Given the description of an element on the screen output the (x, y) to click on. 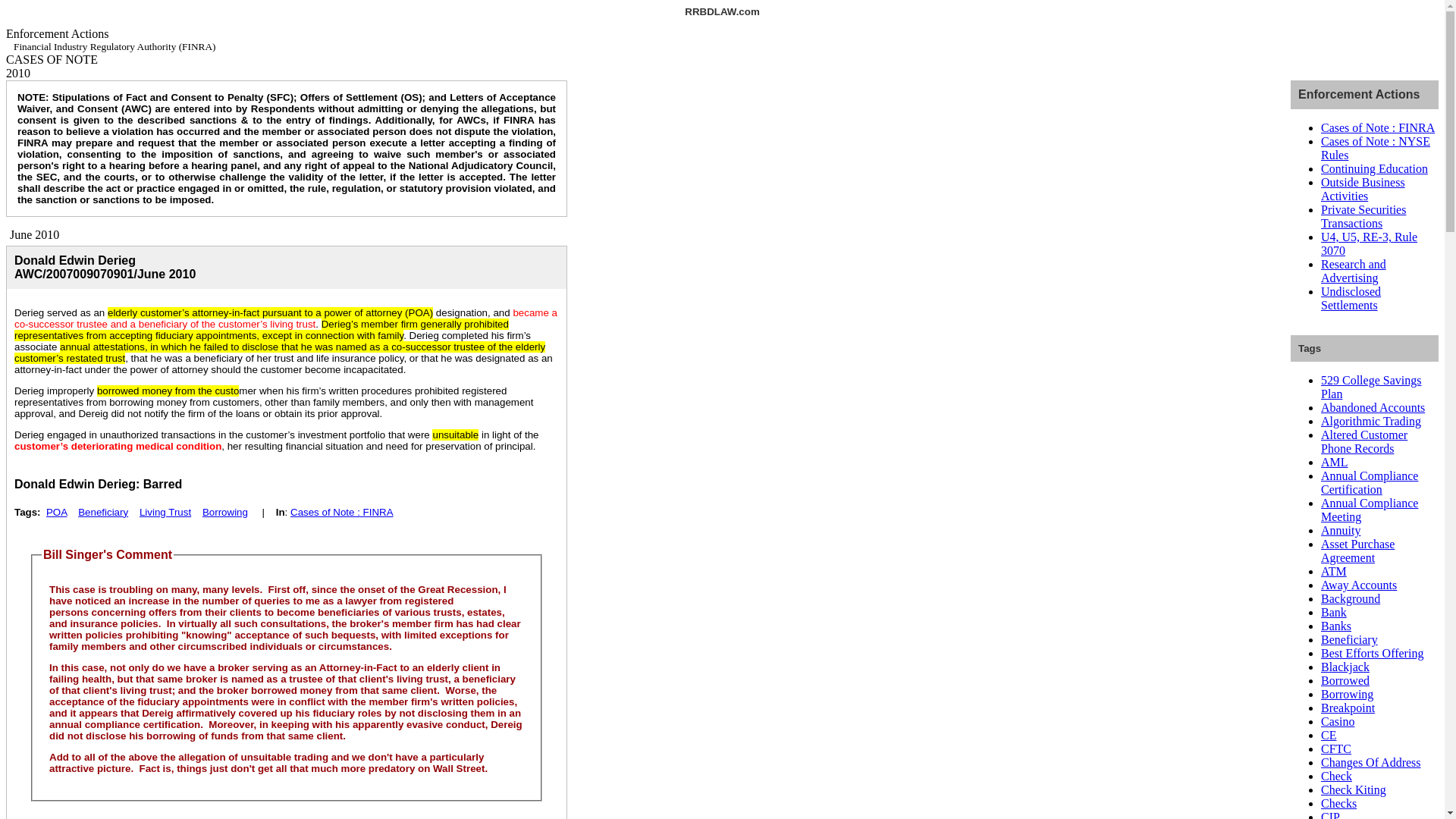
Away Accounts (1358, 584)
Asset Purchase Agreement (1357, 550)
Banks (1335, 625)
POA (56, 511)
U4, U5, RE-3, Rule 3070 (1368, 243)
Undisclosed Settlements (1350, 298)
Living Trust (164, 511)
Annuity (1339, 530)
Borrowing (1346, 694)
Changes Of Address (1370, 762)
Cases of Note : FINRA (341, 511)
Check Kiting (1353, 789)
ATM (1333, 571)
Altered Customer Phone Records (1363, 441)
Private Securities Transactions (1363, 216)
